Given the description of an element on the screen output the (x, y) to click on. 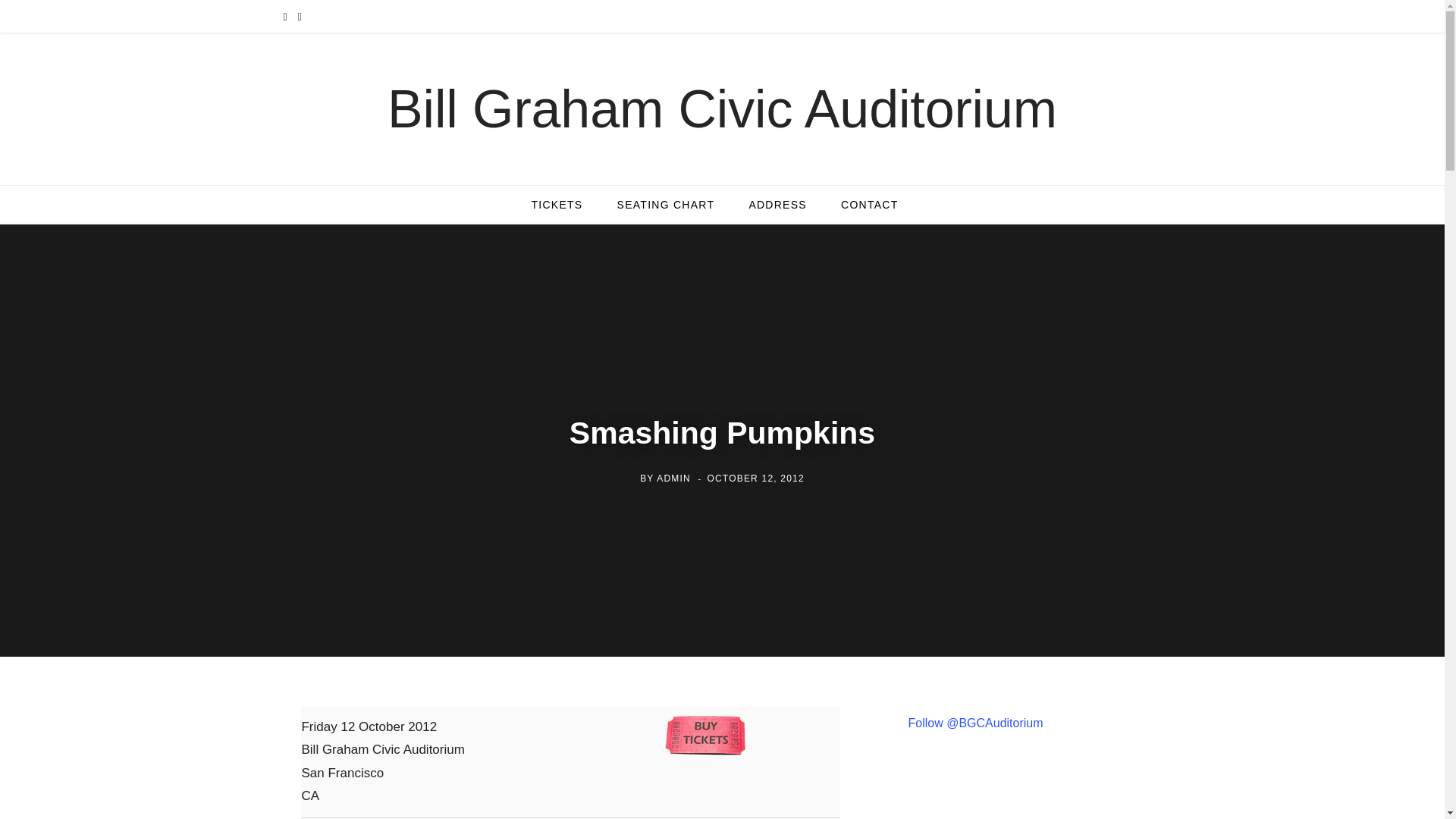
Bill Graham Civic Auditorium Seating Chart (666, 204)
Bill Graham Civic Auditorium Contact (868, 204)
CONTACT (868, 204)
ADDRESS (777, 204)
Bill Graham Civic Auditorium Tickets (555, 204)
Posts by admin (673, 479)
Bill Graham Civic Auditorium (722, 108)
ADMIN (673, 479)
Bill Graham Civic Auditorium (722, 108)
TICKETS (555, 204)
Bill Graham Civic Auditorium Address (777, 204)
SEATING CHART (666, 204)
